Given the description of an element on the screen output the (x, y) to click on. 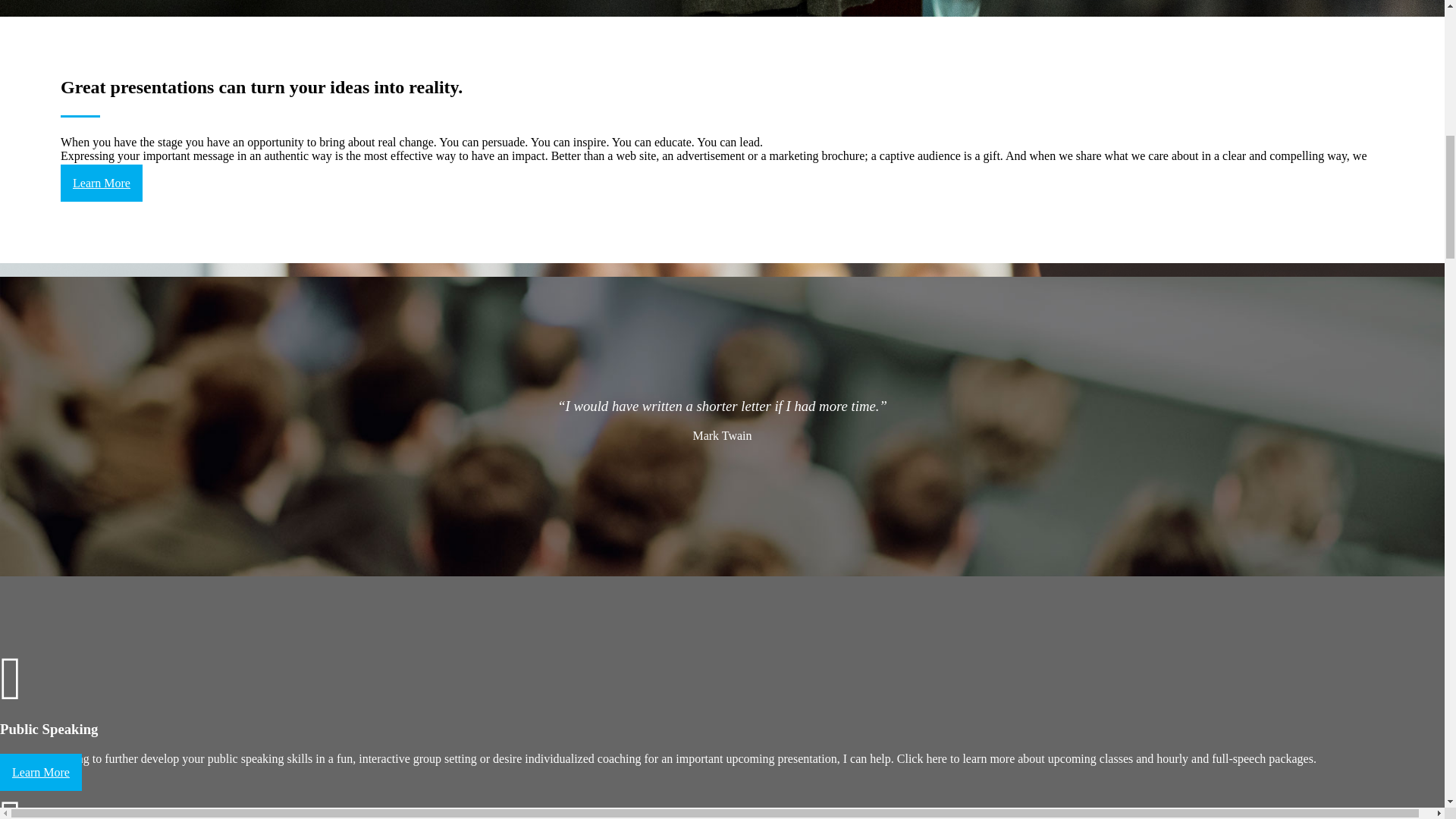
Learn More (101, 182)
Learn More (40, 772)
